Given the description of an element on the screen output the (x, y) to click on. 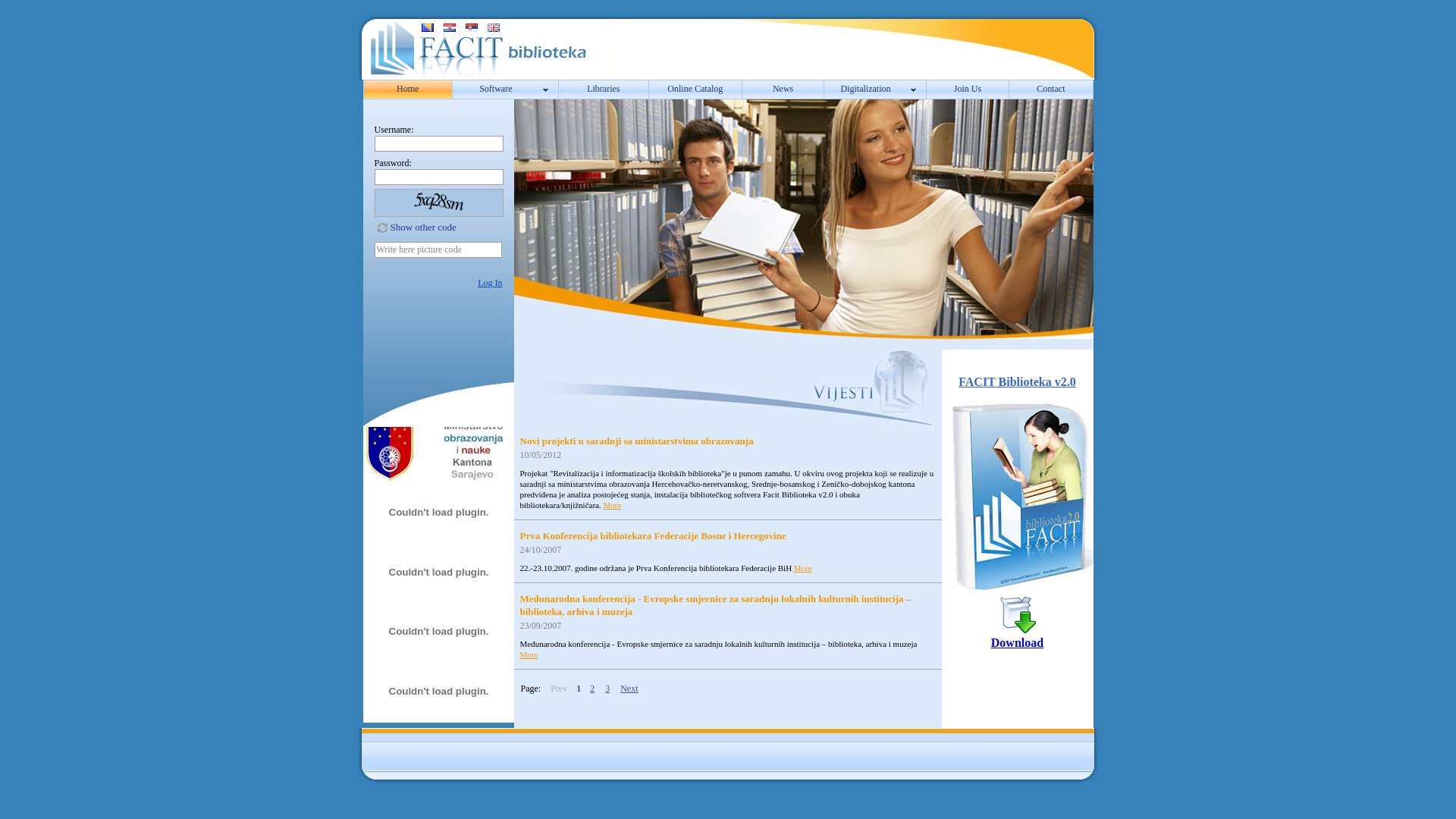
News Element type: text (783, 89)
Join Us Element type: text (967, 88)
Bosanski Element type: hover (427, 27)
Download Element type: text (1017, 642)
More Element type: text (802, 567)
Next Element type: text (628, 688)
Log In Element type: text (489, 282)
English Element type: hover (493, 27)
More Element type: text (611, 504)
Libraries Element type: text (602, 88)
Show other code Element type: text (416, 226)
2 Element type: text (592, 688)
News Element type: text (782, 88)
Contact Element type: text (1050, 88)
Libraries Element type: text (603, 89)
Contact Element type: text (1050, 89)
Software Element type: text (497, 89)
3 Element type: text (607, 688)
Online Catalog Element type: text (694, 88)
Join Us Element type: text (967, 89)
Online Catalog Element type: text (695, 89)
Digitalization Element type: text (867, 89)
Hrvatski Element type: hover (449, 27)
More Element type: text (529, 653)
